Given the description of an element on the screen output the (x, y) to click on. 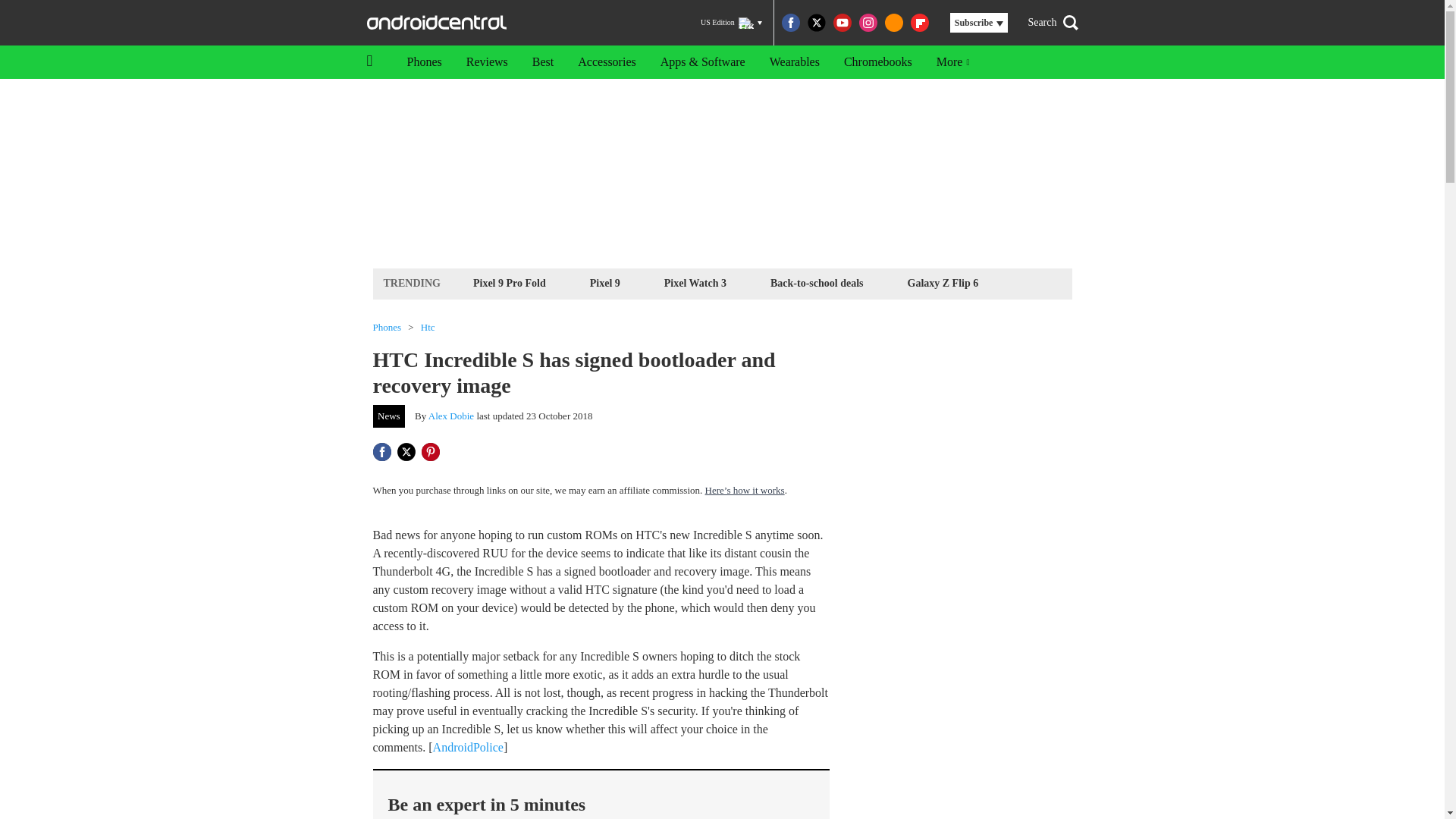
Pixel 9 Pro Fold (509, 282)
Phones (423, 61)
Alex Dobie (451, 415)
Wearables (794, 61)
Reviews (486, 61)
Best (542, 61)
Chromebooks (877, 61)
Pixel 9 (605, 282)
News (389, 415)
US Edition (731, 22)
